Given the description of an element on the screen output the (x, y) to click on. 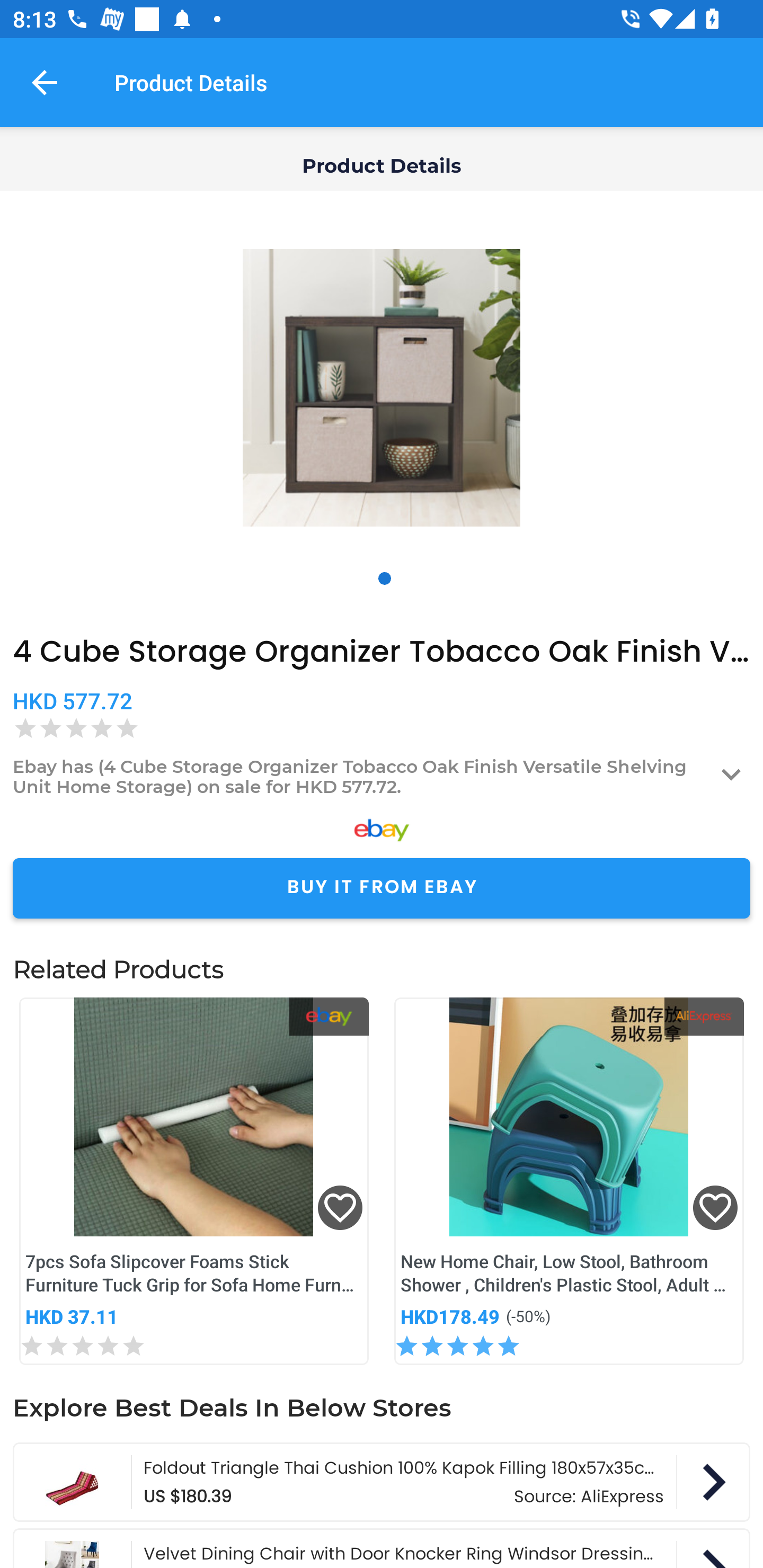
Navigate up (44, 82)
BUY IT FROM EBAY (381, 888)
